Given the description of an element on the screen output the (x, y) to click on. 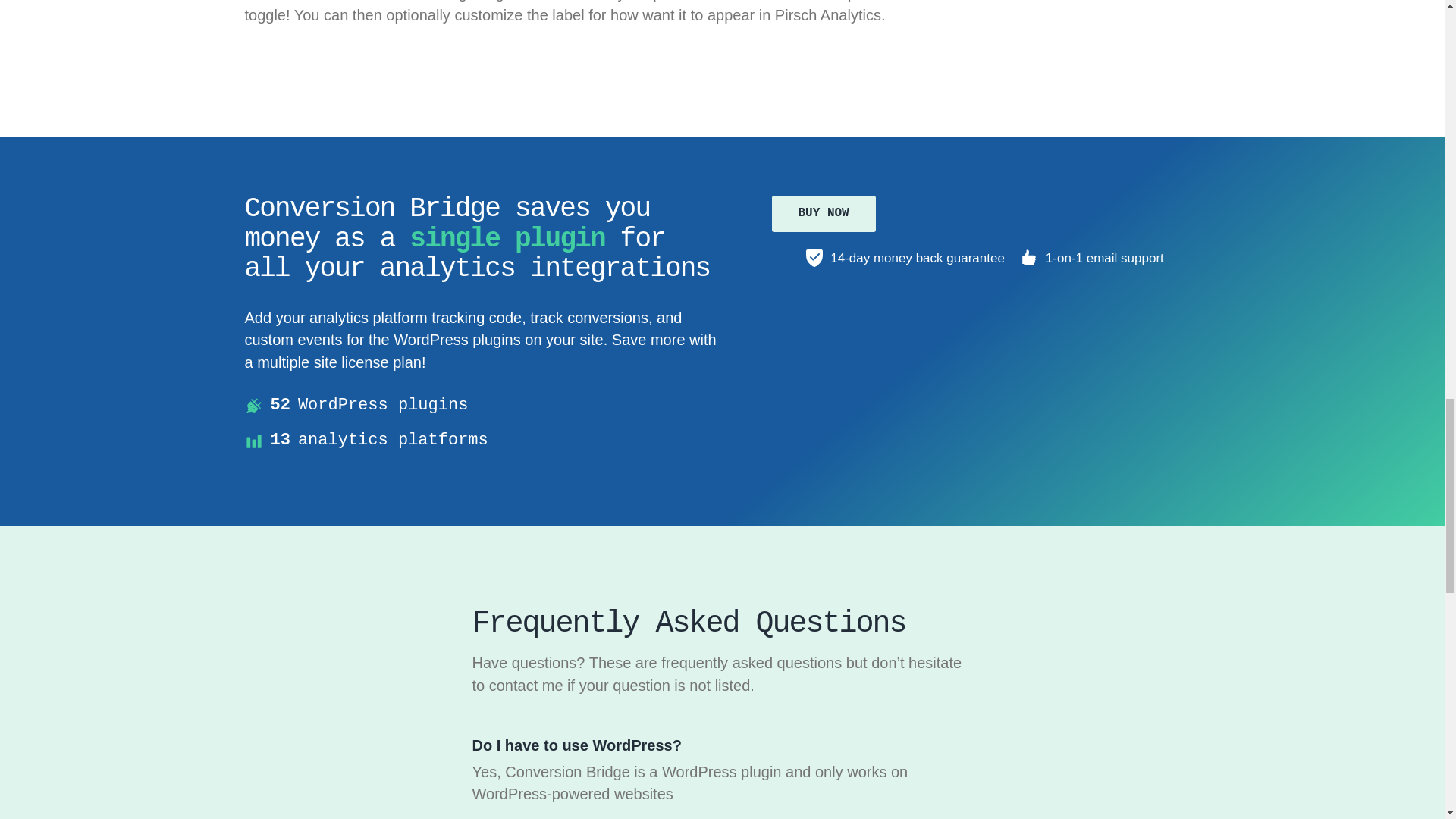
BUY NOW (823, 213)
